Given the description of an element on the screen output the (x, y) to click on. 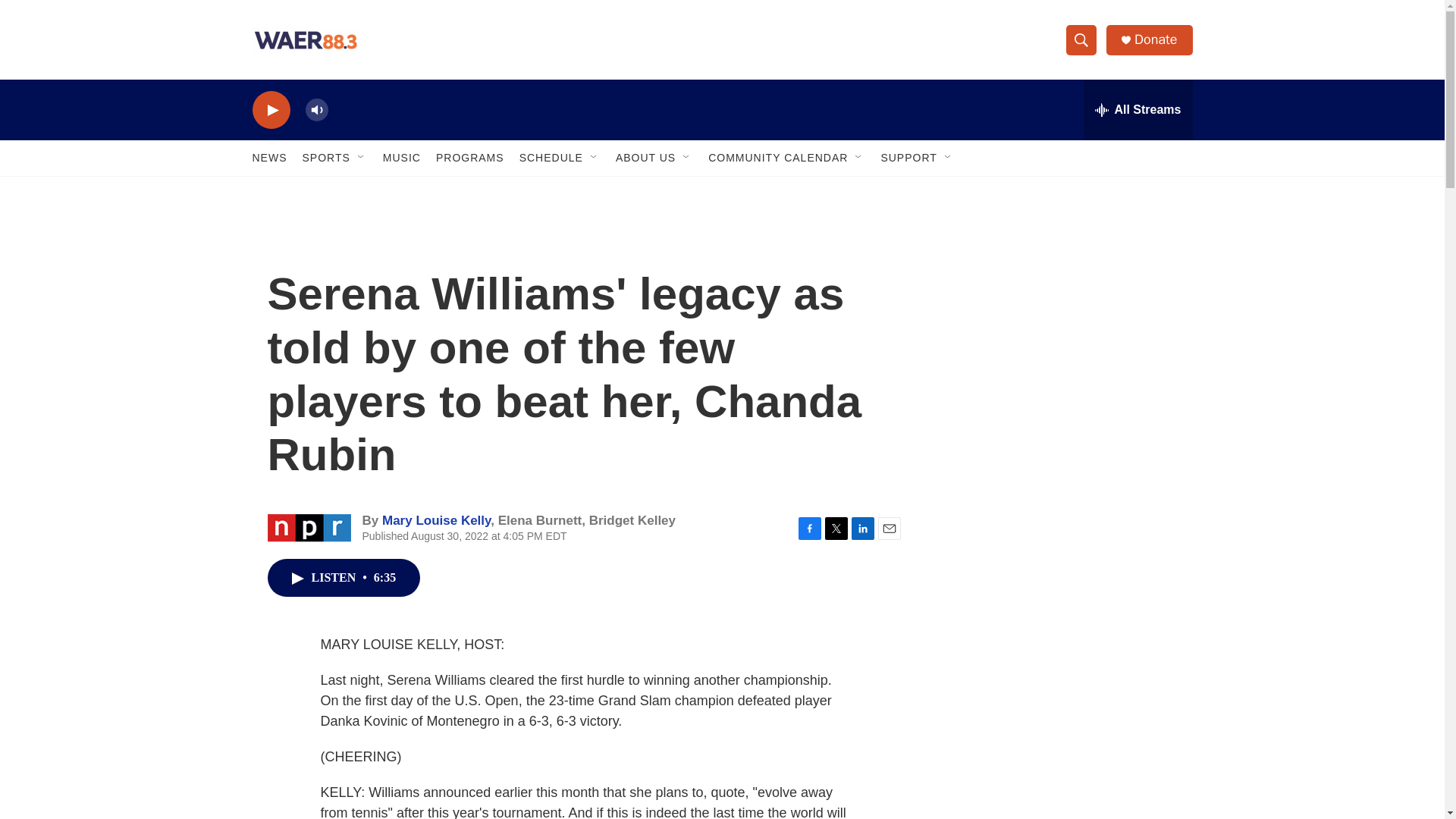
3rd party ad content (1062, 316)
3rd party ad content (1062, 536)
3rd party ad content (1062, 740)
